Given the description of an element on the screen output the (x, y) to click on. 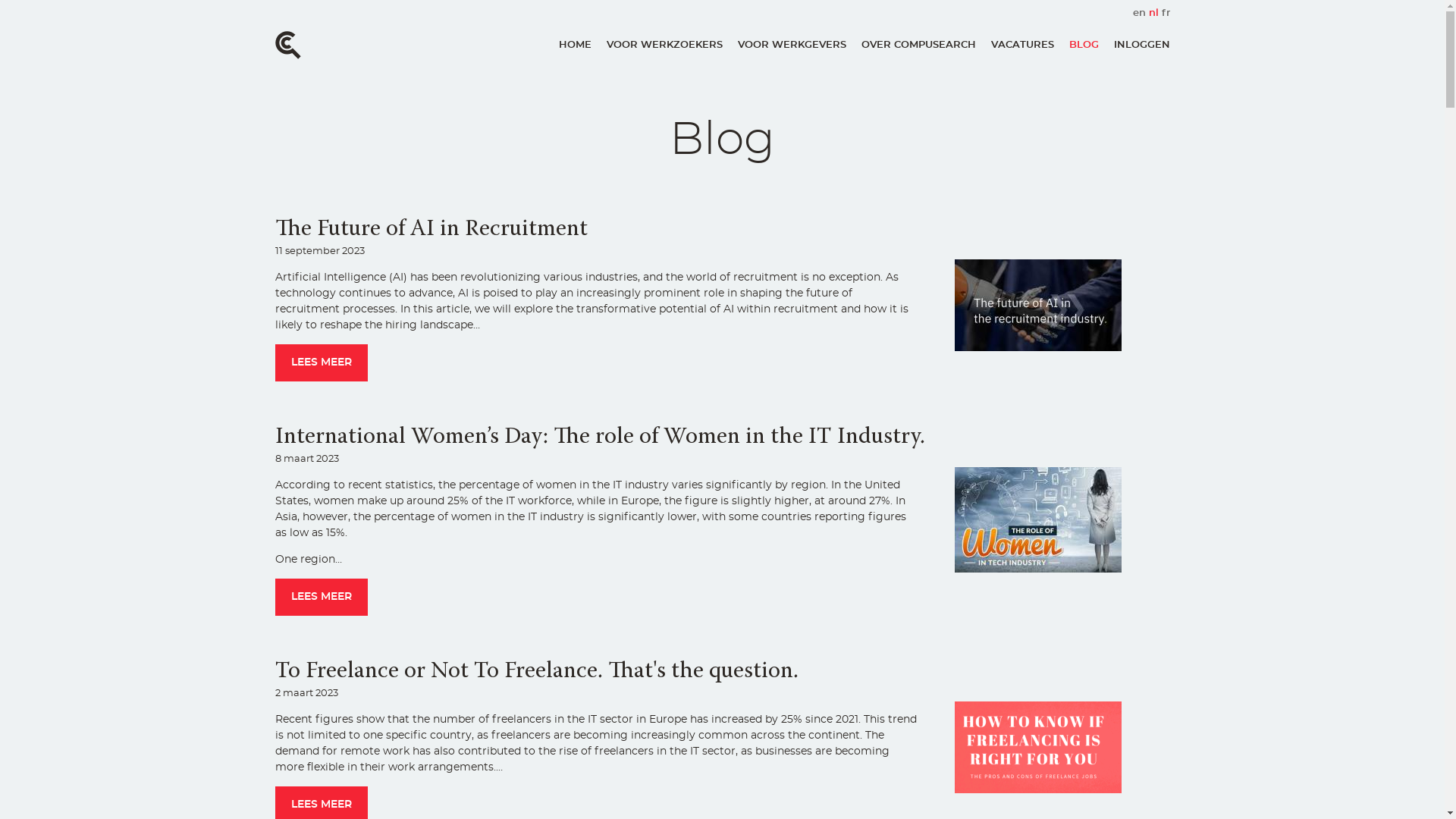
LEES MEER Element type: text (320, 596)
Home Element type: hover (287, 45)
Overslaan en naar de inhoud gaan Element type: text (0, 0)
nl Element type: text (1153, 12)
The Future of AI in Recruitment Element type: text (430, 229)
HOME Element type: text (574, 45)
VOOR WERKGEVERS Element type: text (791, 45)
To Freelance or Not To Freelance. That's the question. Element type: text (535, 671)
VOOR WERKZOEKERS Element type: text (664, 45)
VACATURES Element type: text (1021, 45)
en Element type: text (1138, 12)
LEES MEER Element type: text (320, 362)
BLOG Element type: text (1083, 45)
INLOGGEN Element type: text (1141, 45)
OVER COMPUSEARCH Element type: text (918, 45)
fr Element type: text (1165, 12)
